Given the description of an element on the screen output the (x, y) to click on. 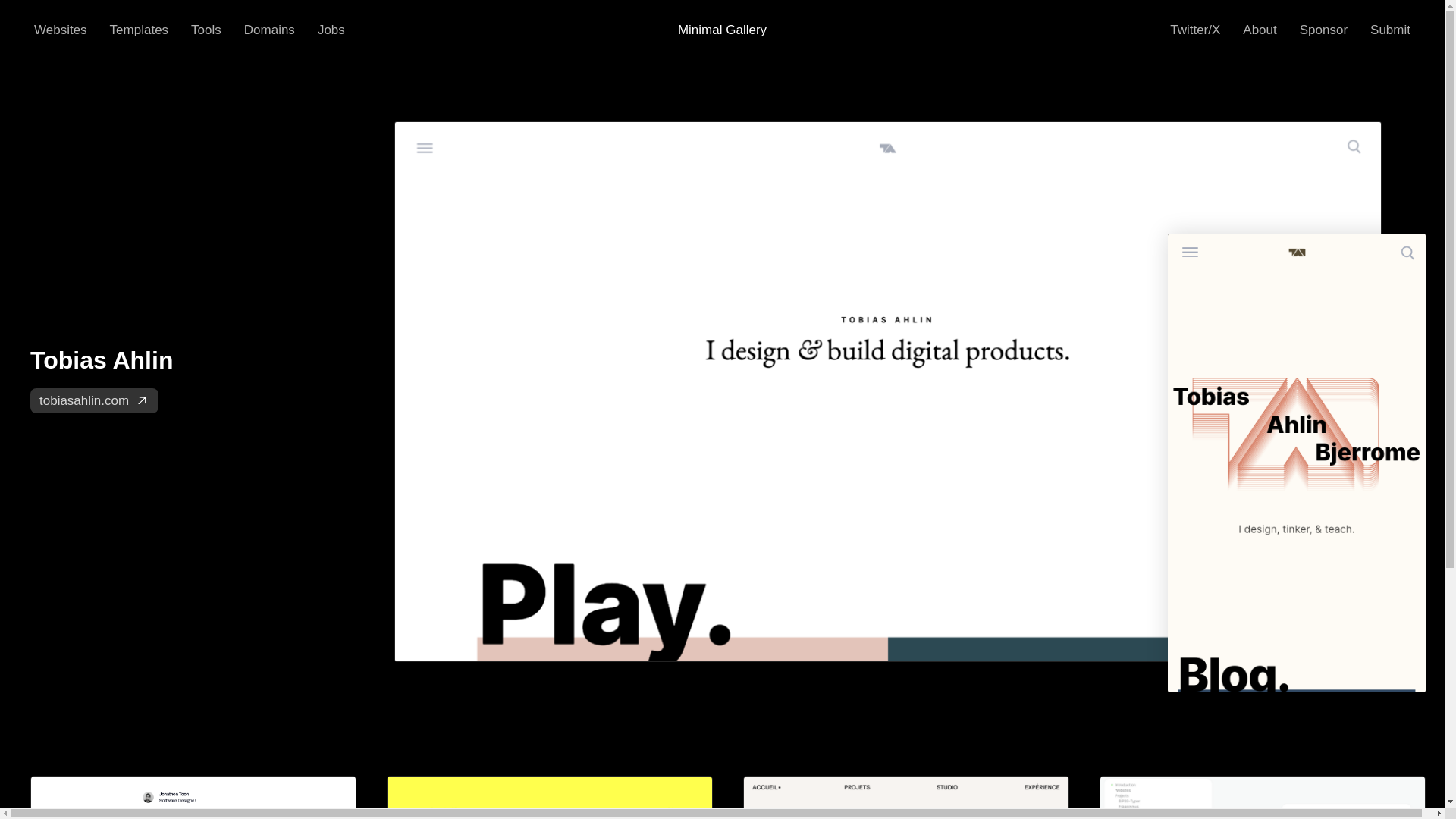
Sponsor (1324, 30)
Domains (269, 30)
Tools (205, 30)
Websites (197, 378)
Templates (60, 30)
Minimal Gallery (138, 30)
Submit (722, 30)
About (1390, 30)
Jobs (1259, 30)
